Given the description of an element on the screen output the (x, y) to click on. 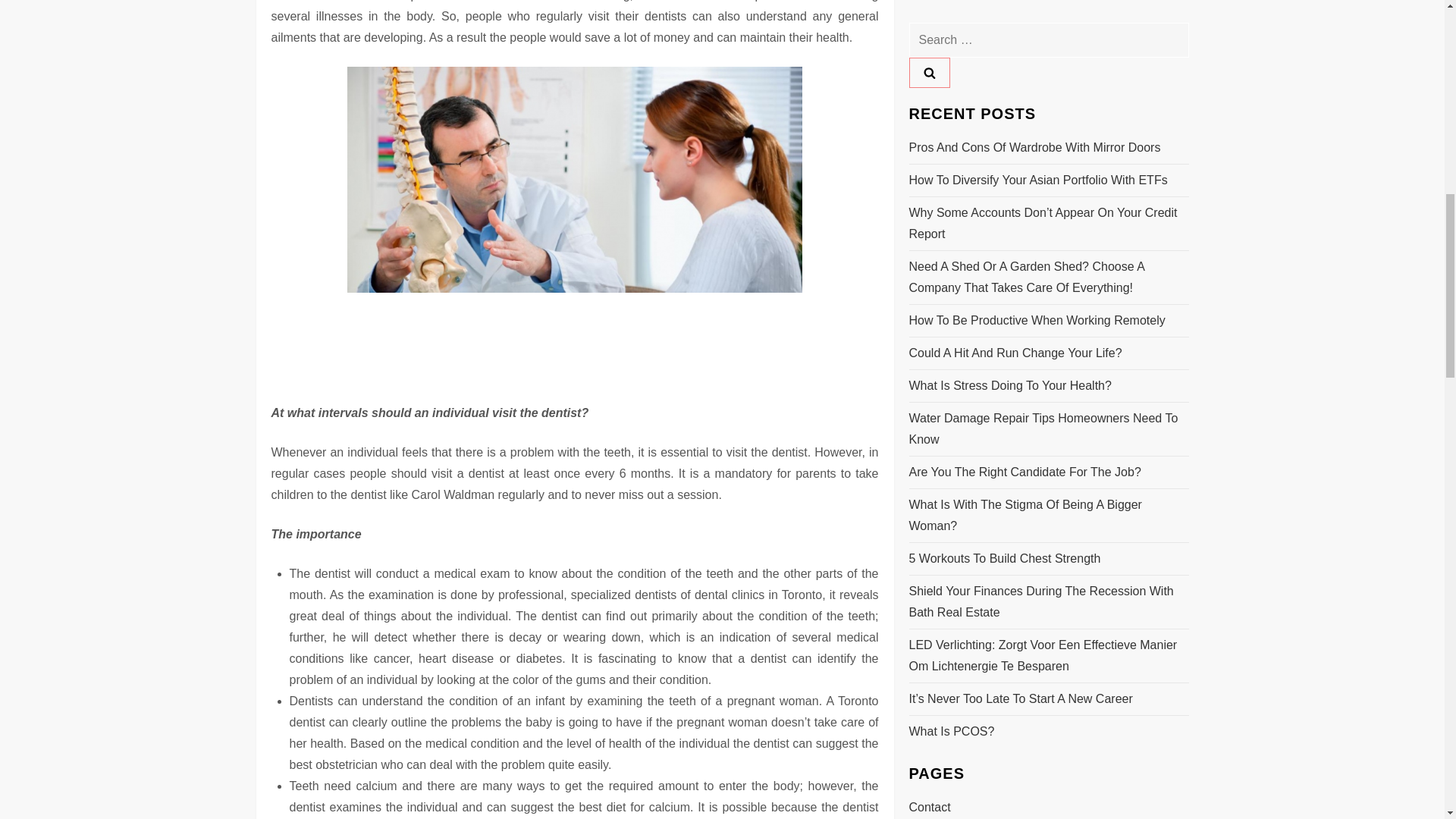
Contact (929, 135)
What Is PCOS? (951, 59)
